Given the description of an element on the screen output the (x, y) to click on. 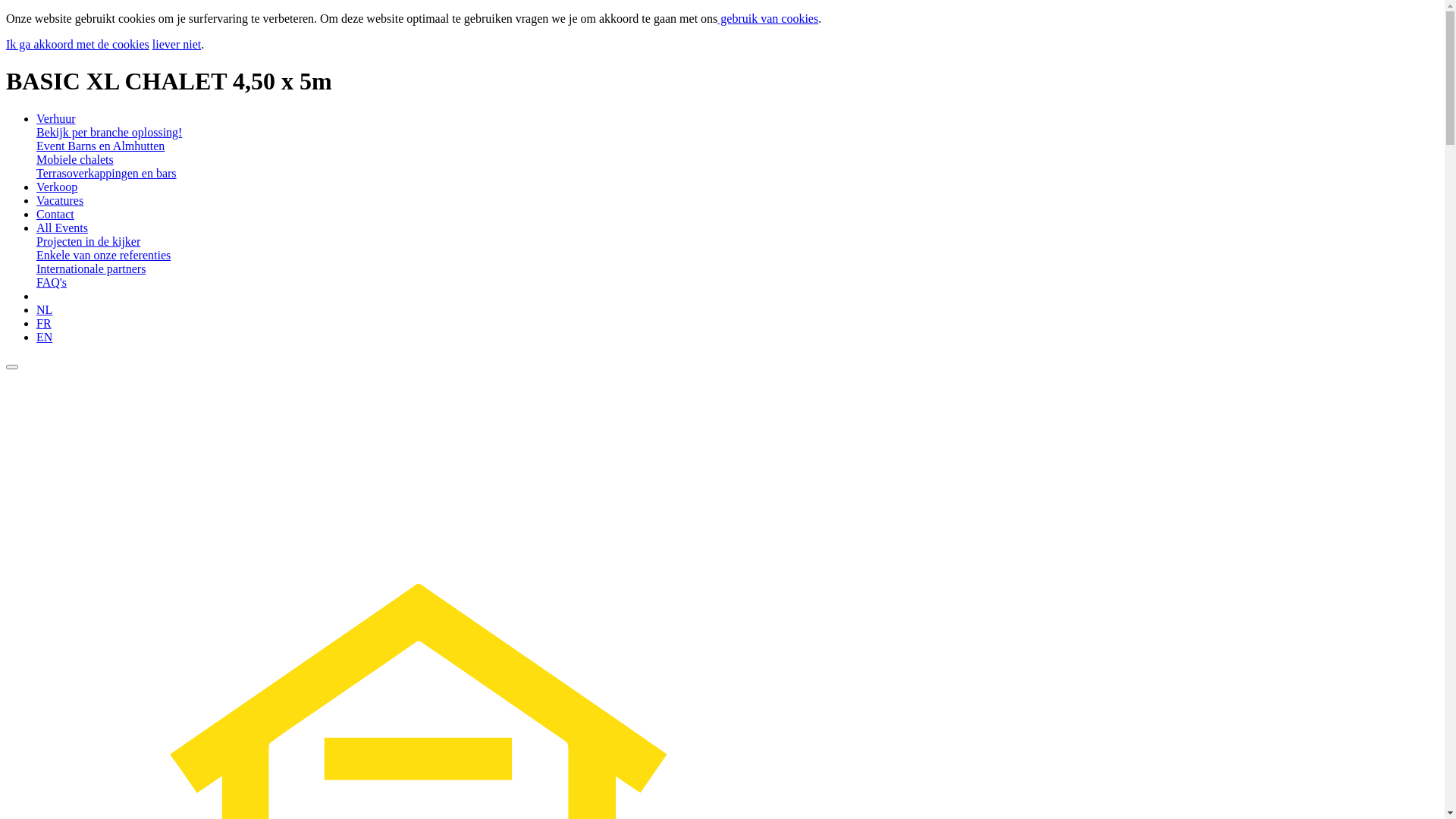
gebruik van cookies Element type: text (767, 18)
Vacatures Element type: text (59, 200)
Enkele van onze referenties Element type: text (103, 254)
Ik ga akkoord met de cookies Element type: text (77, 43)
Bekijk per branche oplossing! Element type: text (109, 131)
Verhuur Element type: text (55, 118)
NL Element type: text (44, 309)
Contact Element type: text (55, 213)
FAQ's Element type: text (51, 282)
All Events Element type: text (61, 227)
Projecten in de kijker Element type: text (88, 241)
FR Element type: text (43, 322)
Verkoop Element type: text (56, 186)
Event Barns en Almhutten Element type: text (100, 145)
Mobiele chalets Element type: text (74, 159)
EN Element type: text (44, 336)
liever niet Element type: text (176, 43)
Internationale partners Element type: text (90, 268)
Terrasoverkappingen en bars Element type: text (106, 172)
